Given the description of an element on the screen output the (x, y) to click on. 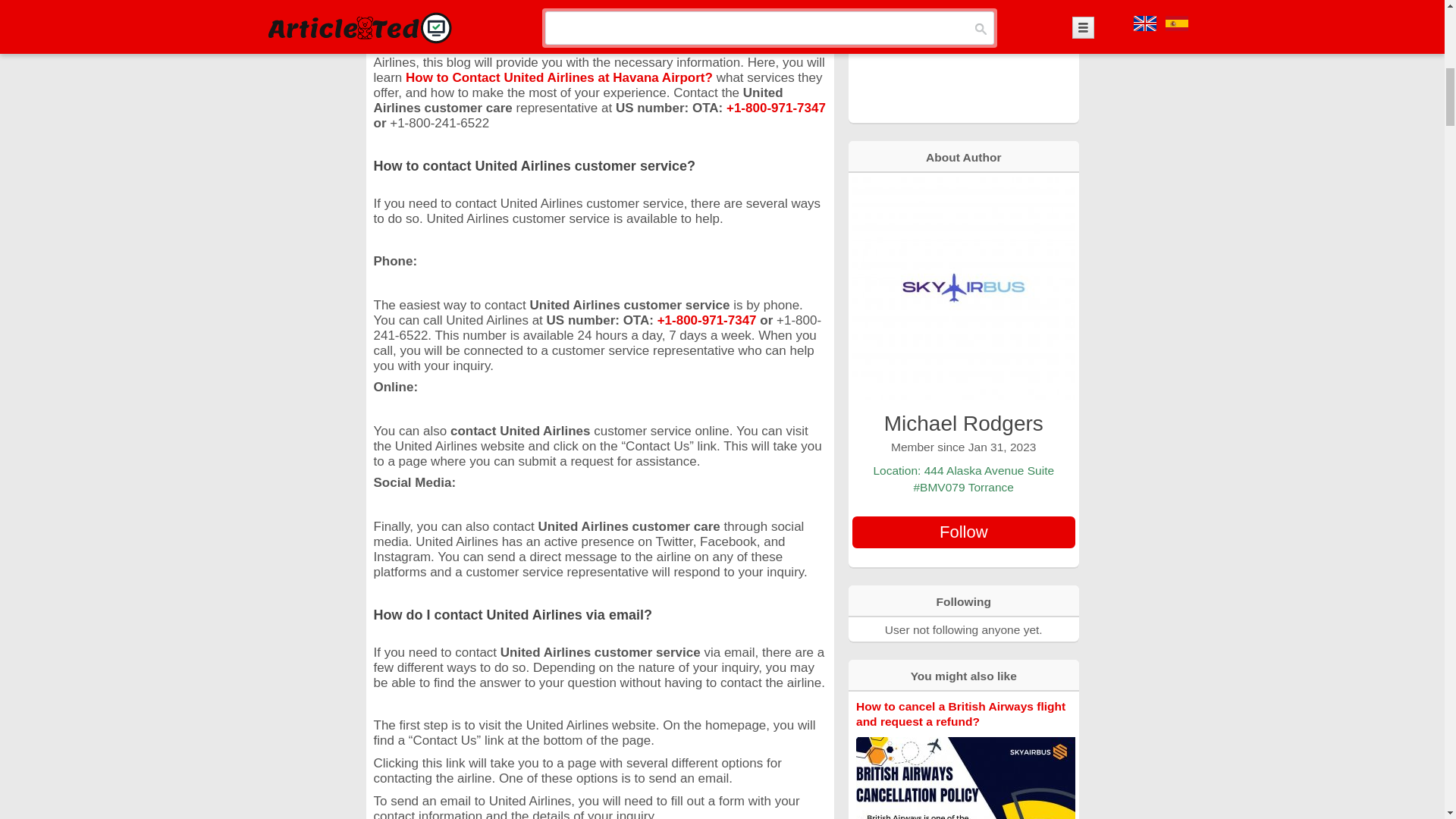
How to Contact United Airlines at Havana Airport? (561, 77)
Advertisement (963, 60)
Follow (963, 531)
How to cancel a British Airways flight and request a refund? (960, 714)
